Given the description of an element on the screen output the (x, y) to click on. 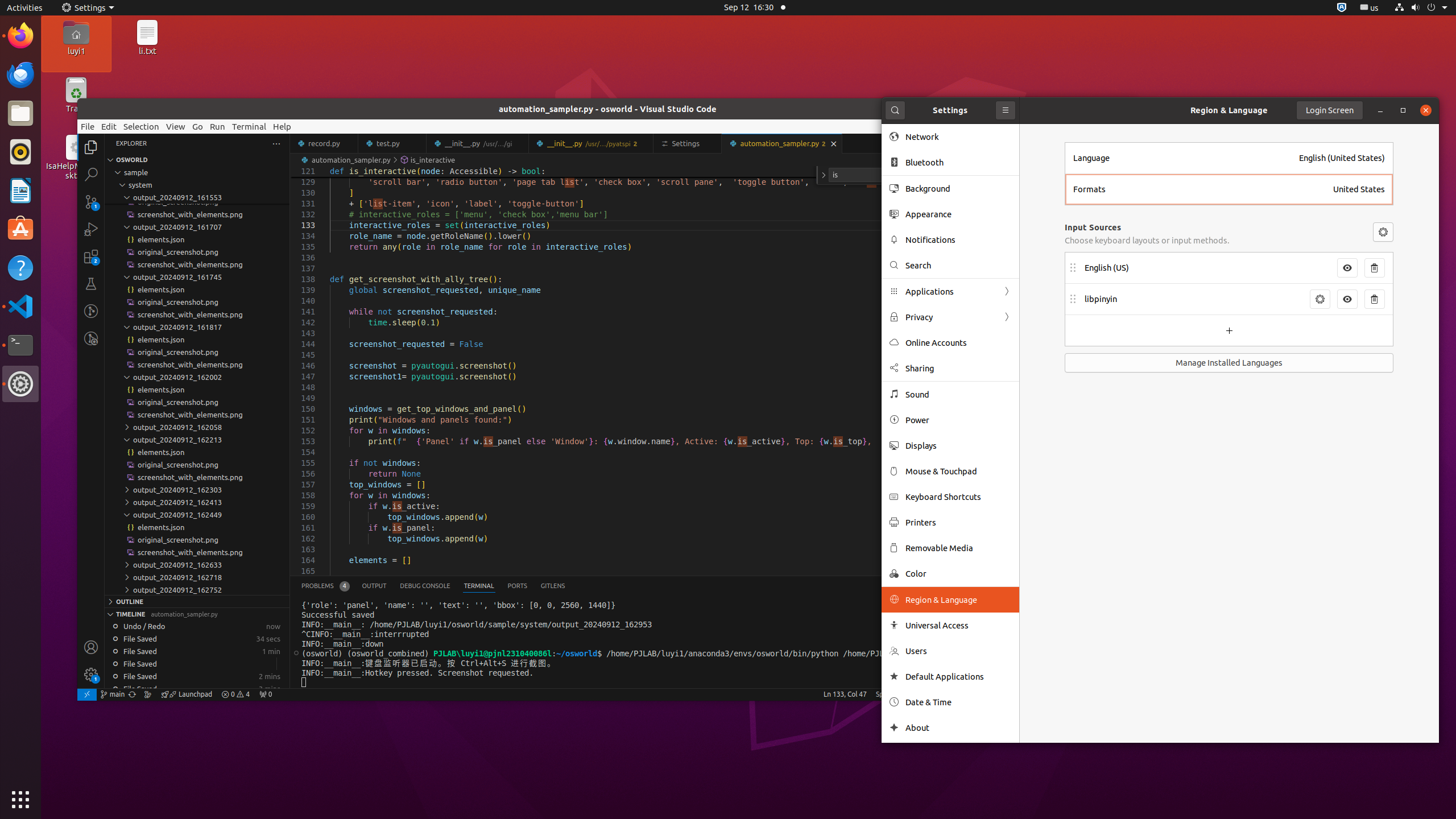
Region & Language Element type: label (1228, 109)
Background Element type: label (958, 188)
Search Element type: toggle-button (894, 110)
Sound Element type: label (958, 394)
Add Element type: icon (1228, 330)
